Given the description of an element on the screen output the (x, y) to click on. 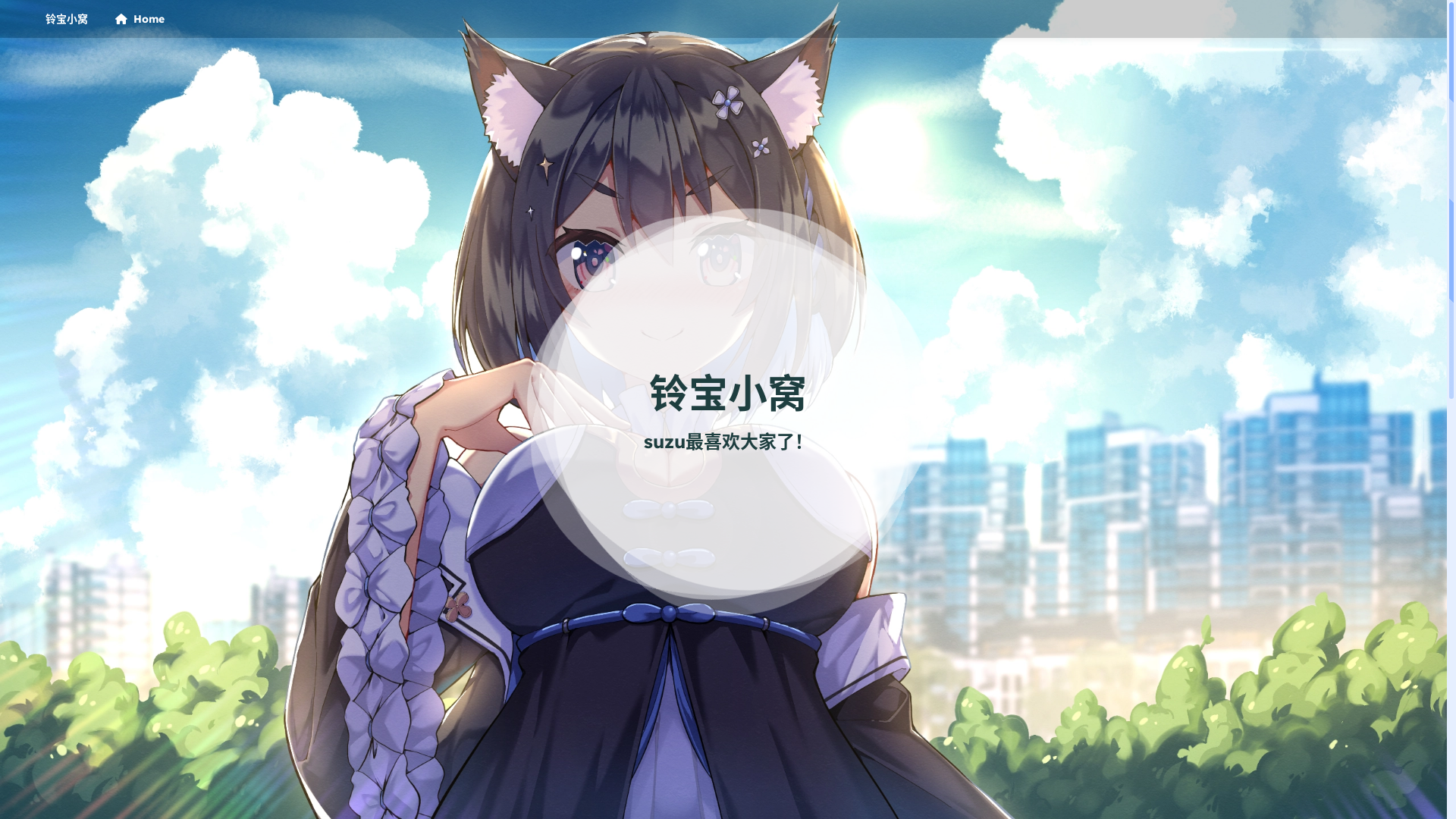
Home Element type: text (139, 18)
